Given the description of an element on the screen output the (x, y) to click on. 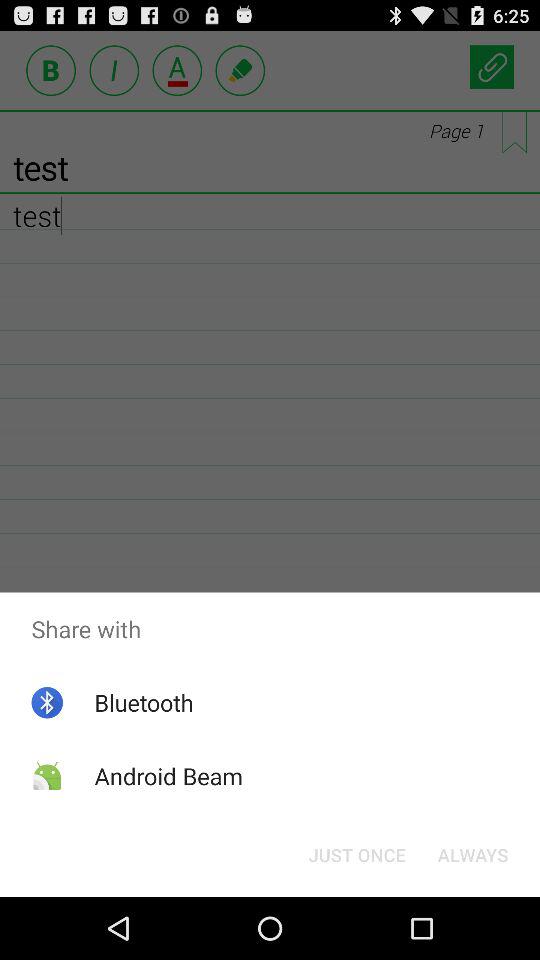
turn off button to the right of just once item (472, 854)
